Given the description of an element on the screen output the (x, y) to click on. 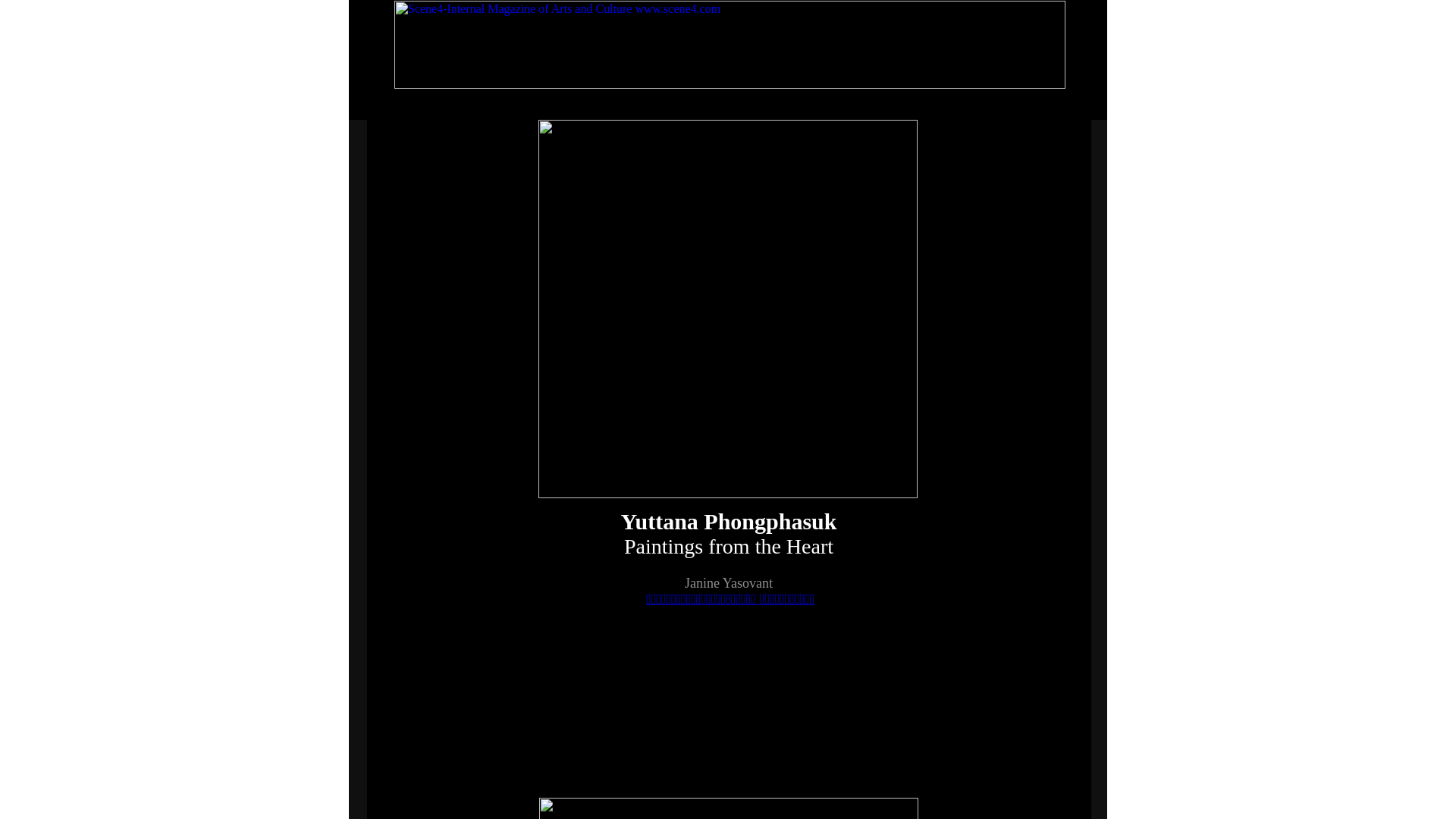
YP01-cr (728, 808)
Scene4-Internal Magazine of Arts and Culture www.scene4.com (729, 44)
